Given the description of an element on the screen output the (x, y) to click on. 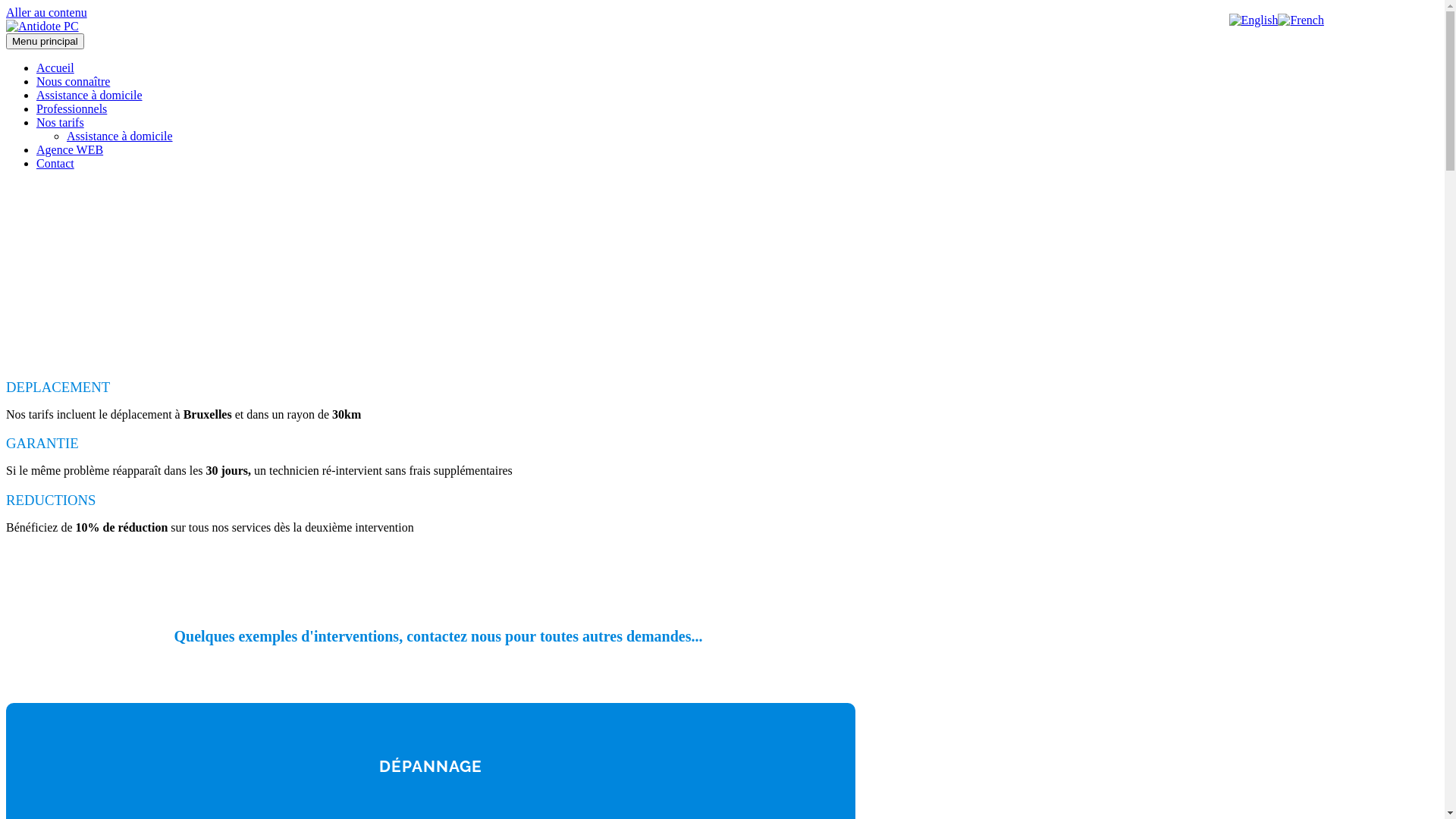
Agence WEB Element type: text (69, 149)
Professionnels Element type: text (71, 108)
Menu principal Element type: text (45, 41)
Accueil Element type: text (55, 67)
English Element type: hover (1253, 19)
Nos tarifs Element type: text (60, 122)
Contact Element type: text (55, 162)
Aller au contenu Element type: text (46, 12)
French Element type: hover (1300, 19)
